Given the description of an element on the screen output the (x, y) to click on. 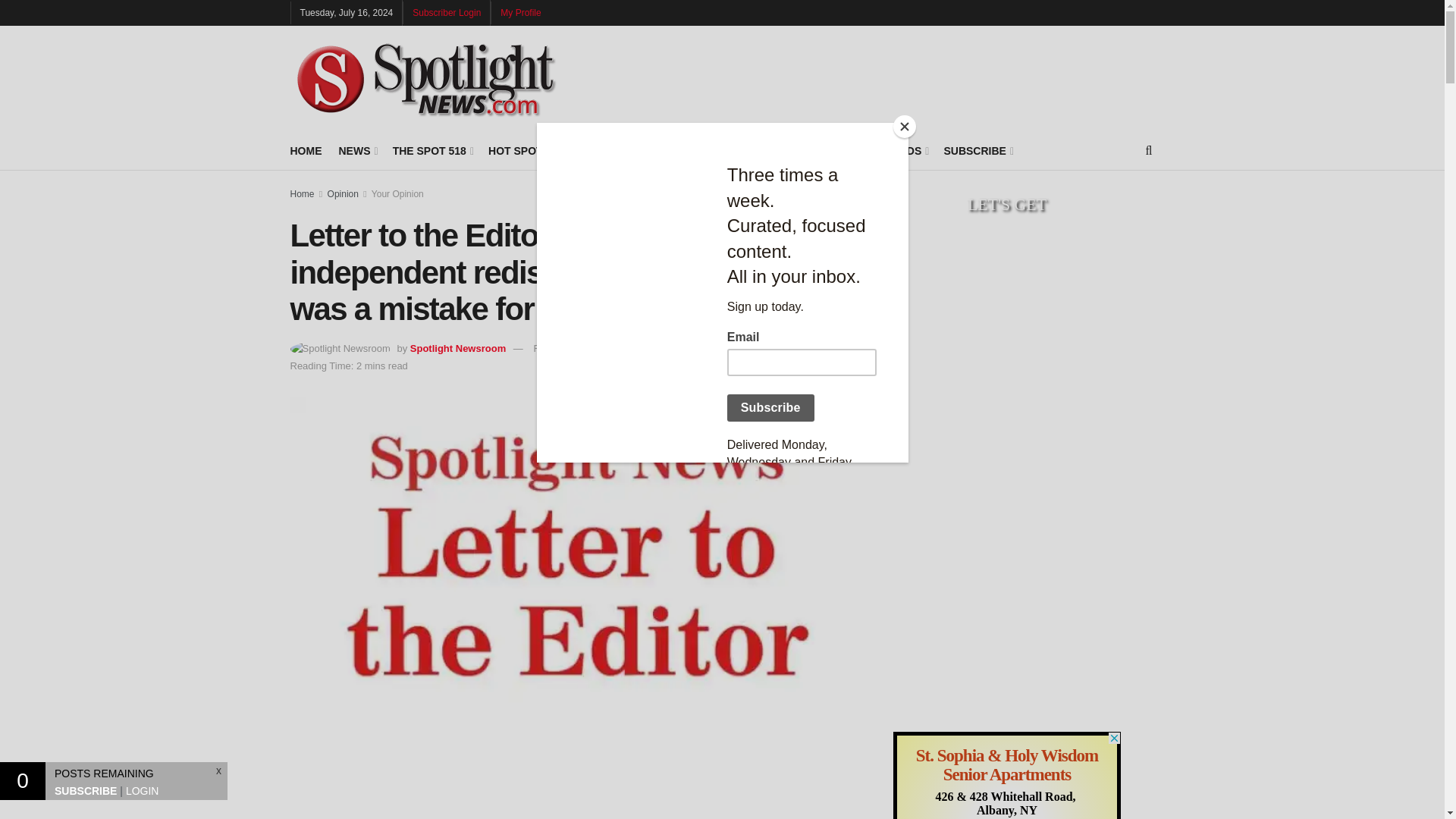
HOT SPOTS CALENDAR (552, 150)
3rd party ad content (1007, 386)
3rd party ad content (1007, 775)
3rd party ad content (1007, 227)
3rd party ad content (1007, 606)
My Profile (520, 12)
HOME (305, 150)
NEWS (356, 150)
Subscriber Login (446, 12)
3rd party ad content (878, 79)
THE SPOT 518 (432, 150)
3rd party ad content (573, 779)
OPINION (658, 150)
